Given the description of an element on the screen output the (x, y) to click on. 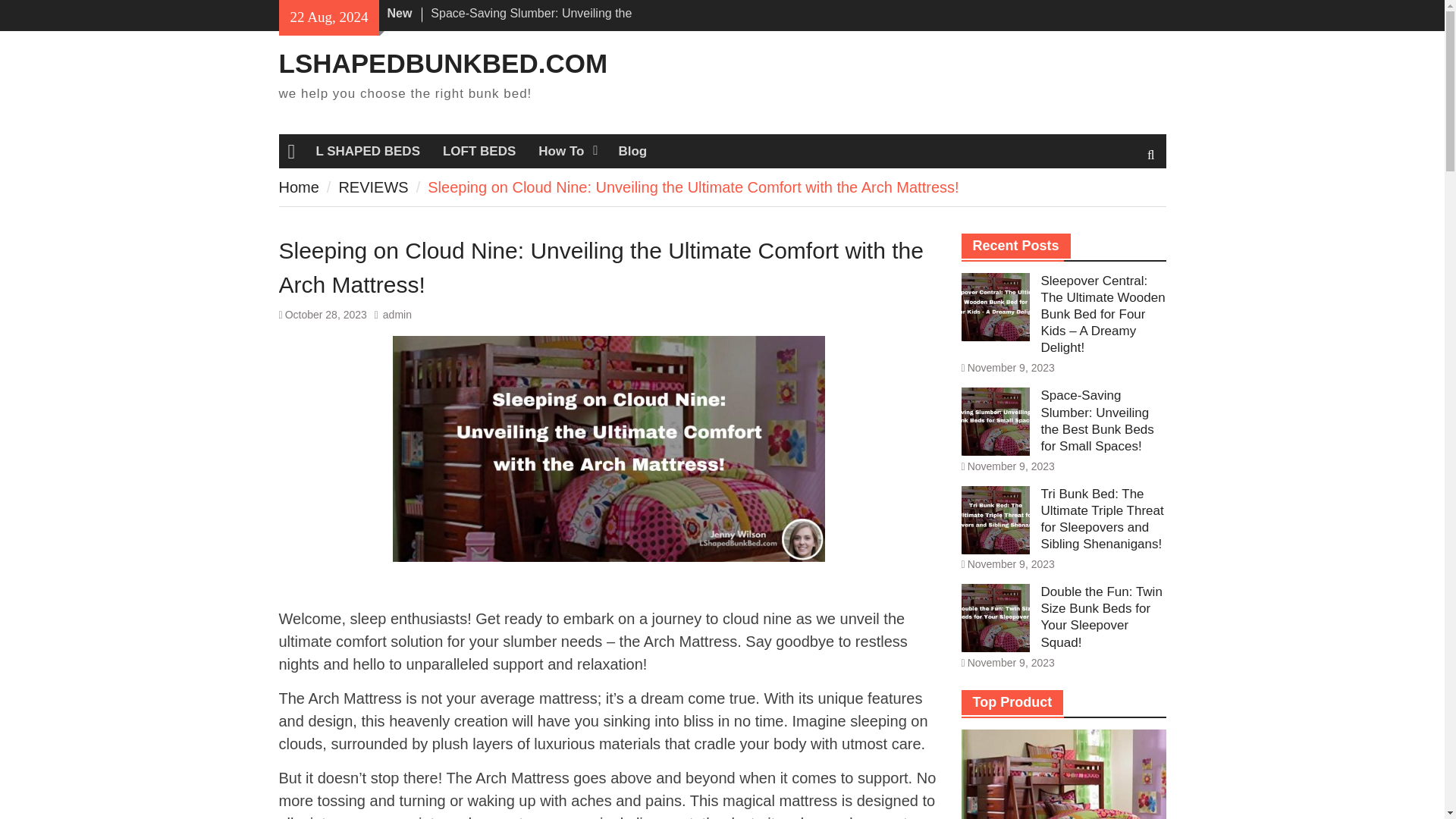
Home (298, 187)
REVIEWS (372, 187)
L SHAPED BEDS (367, 150)
LSHAPEDBUNKBED.COM (443, 62)
admin (397, 314)
How To (567, 150)
LOFT BEDS (478, 150)
October 28, 2023 (325, 314)
Blog (632, 150)
